Given the description of an element on the screen output the (x, y) to click on. 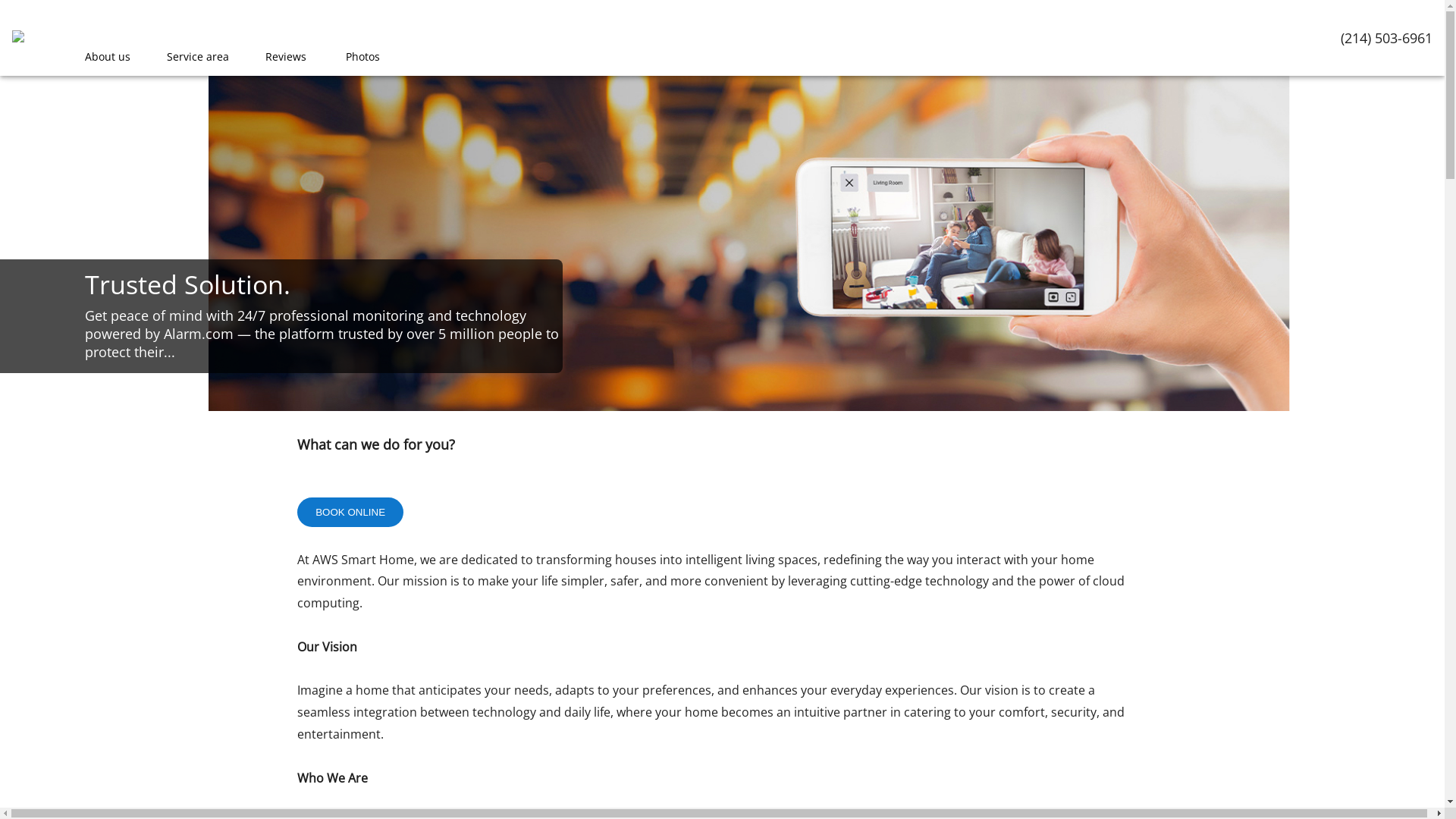
Reviews Element type: text (285, 56)
Photos Element type: text (362, 56)
About us Element type: text (107, 56)
Service area Element type: text (197, 56)
BOOK ONLINE Element type: text (350, 512)
(214) 503-6961 Element type: text (1386, 38)
